Given the description of an element on the screen output the (x, y) to click on. 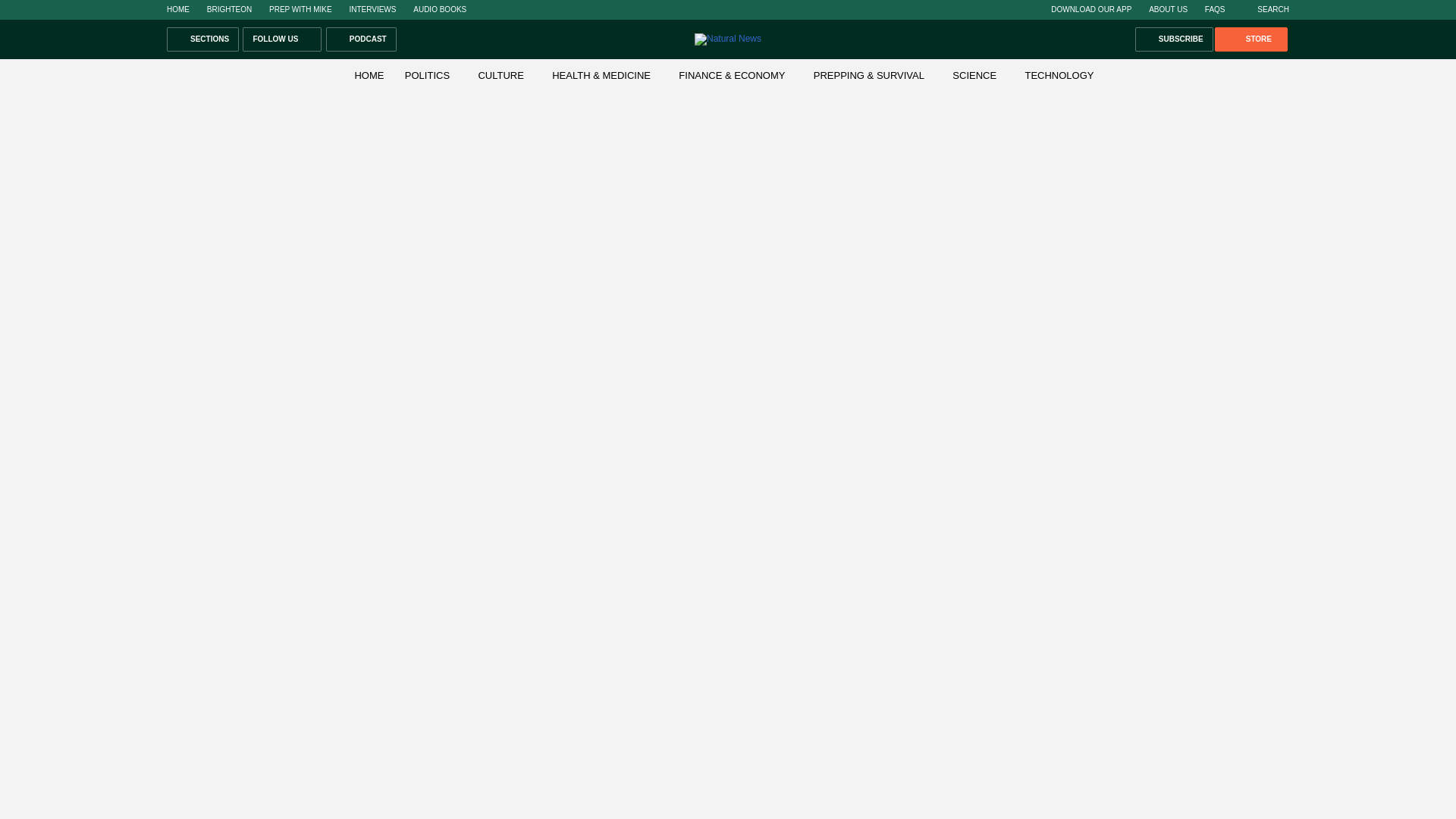
DOWNLOAD OUR APP (1091, 8)
INTERVIEWS (372, 8)
STORE (1250, 39)
PODCAST (361, 39)
SUBSCRIBE (1173, 39)
CULTURE (500, 75)
AUDIO BOOKS (439, 8)
BRIGHTEON (228, 8)
PREP WITH MIKE (300, 8)
FAQS (1215, 8)
